Given the description of an element on the screen output the (x, y) to click on. 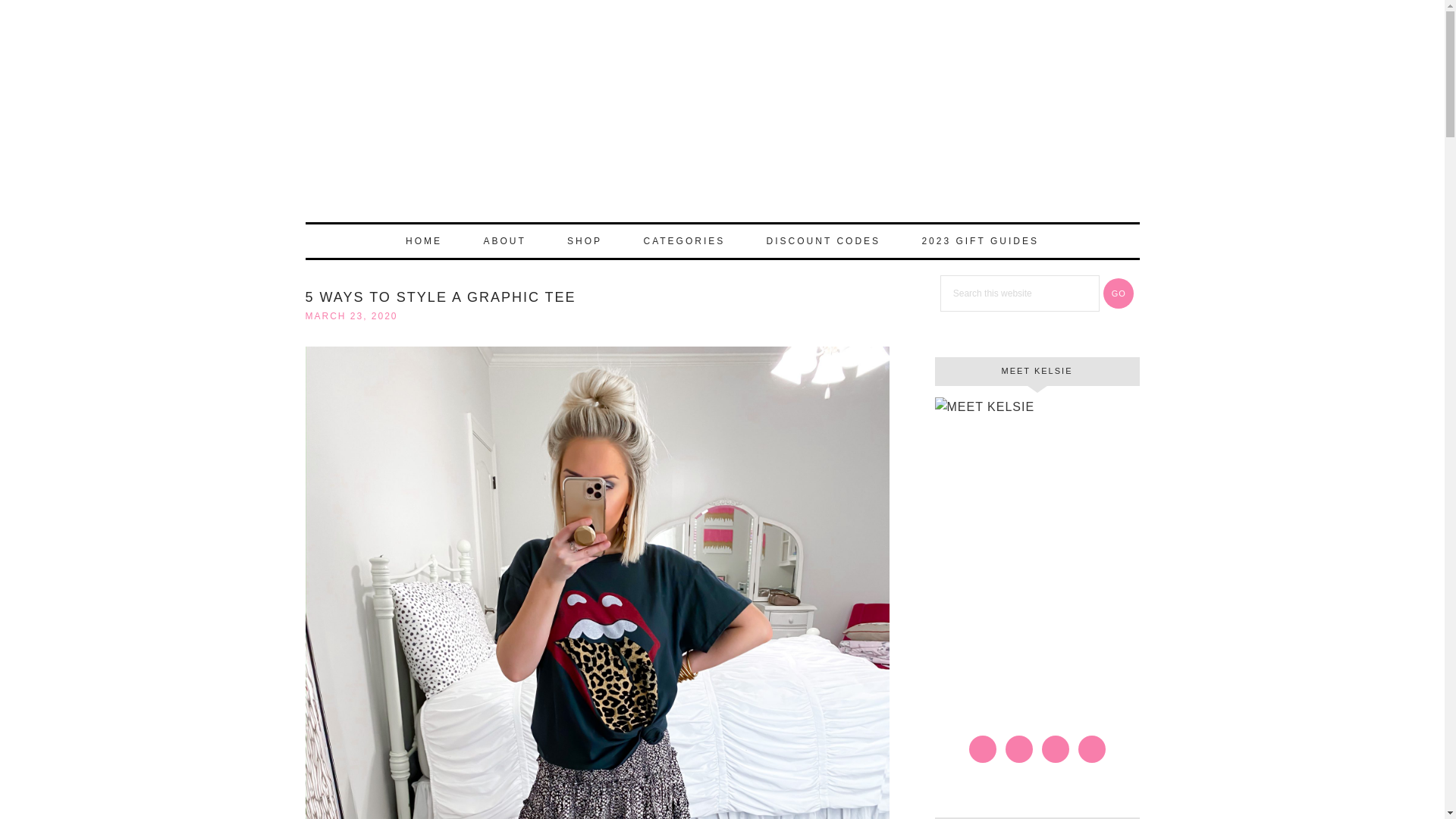
5 WAYS TO STYLE A GRAPHIC TEE (439, 296)
2023 GIFT GUIDES (978, 240)
ABOUT (503, 240)
SHOP (584, 240)
GO (1118, 293)
DISCOUNT CODES (823, 240)
HOME (423, 240)
CATEGORIES (683, 240)
Sassy Southern Blonde (721, 128)
GO (1118, 293)
